Given the description of an element on the screen output the (x, y) to click on. 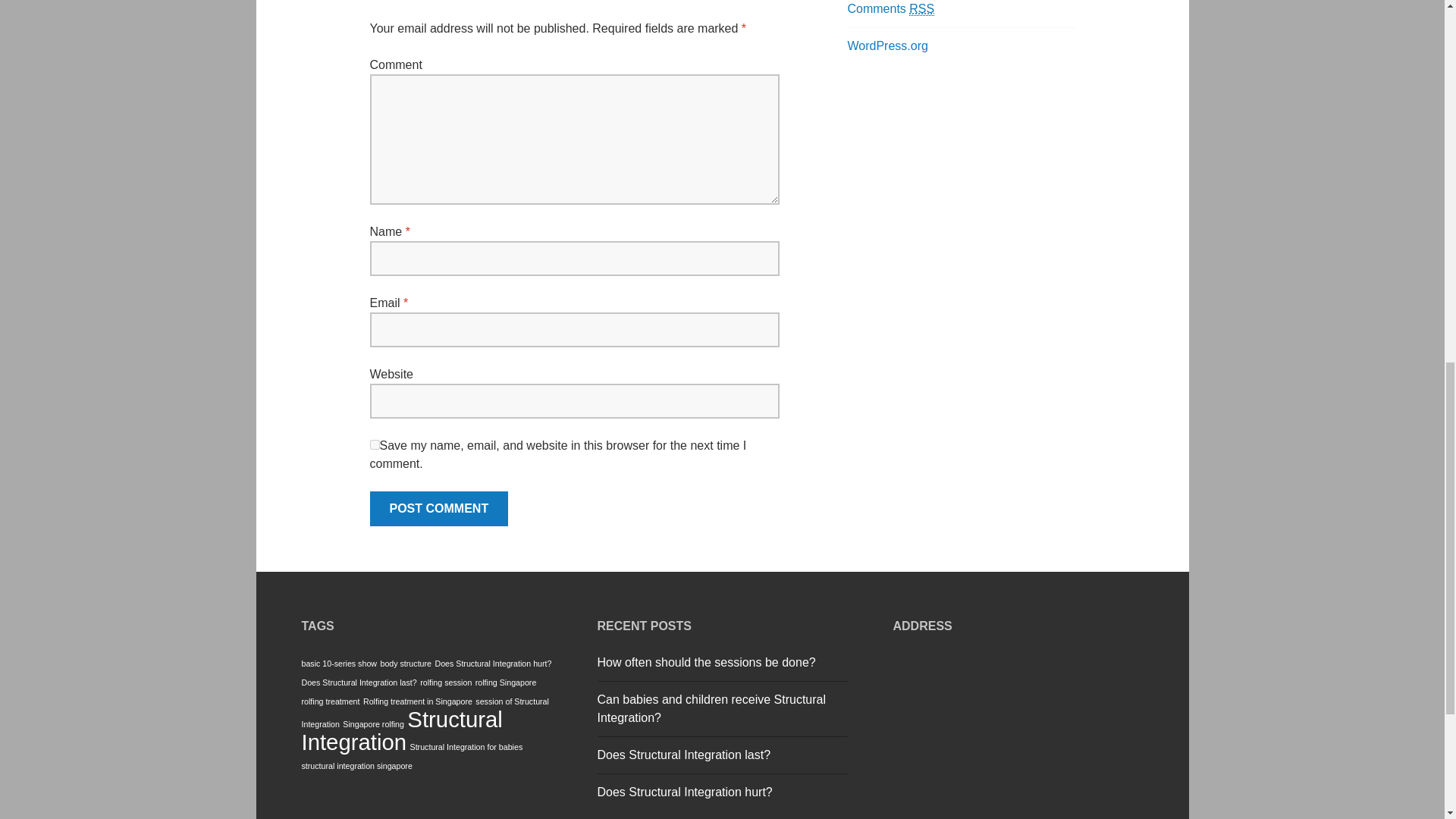
Really Simple Syndication (921, 8)
Comments RSS (890, 8)
WordPress.org (887, 45)
Post Comment (438, 508)
Post Comment (438, 508)
yes (374, 444)
